Given the description of an element on the screen output the (x, y) to click on. 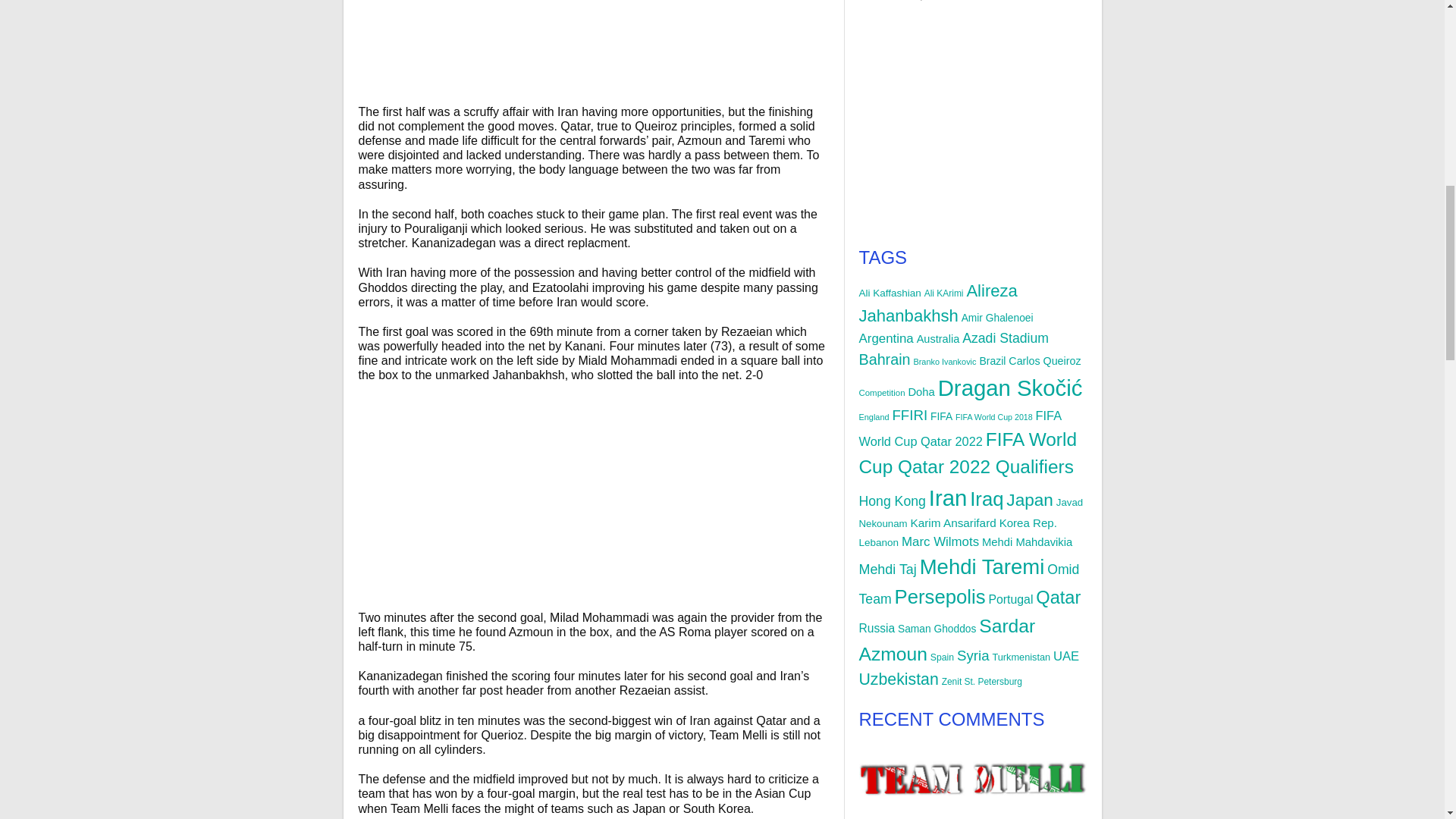
Advertisement (685, 52)
Advertisement (1019, 812)
Advertisement (1019, 124)
